Given the description of an element on the screen output the (x, y) to click on. 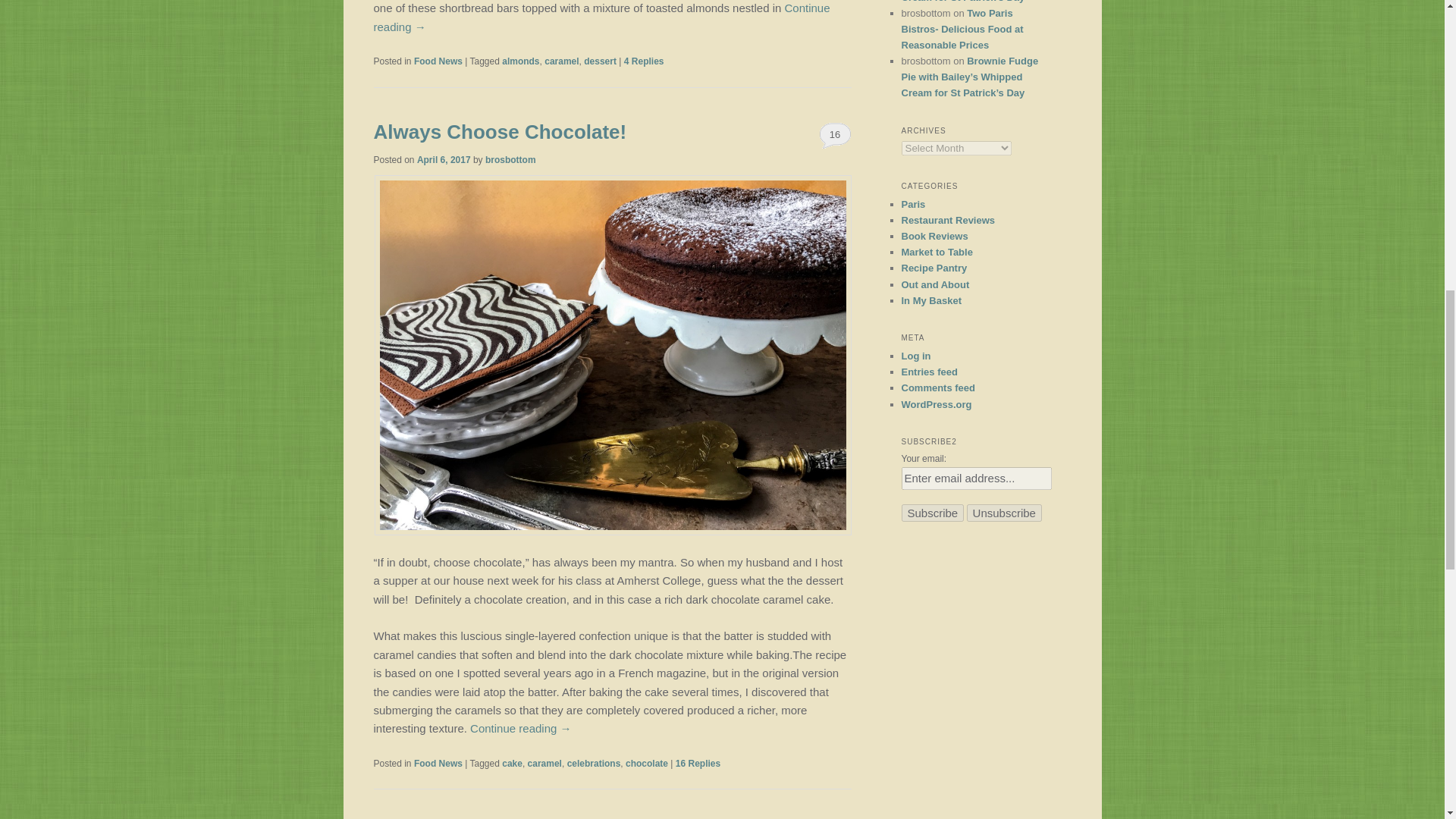
caramel (544, 763)
cake (512, 763)
dessert (599, 61)
caramel (561, 61)
April 6, 2017 (443, 159)
Food News (438, 61)
4 Replies (643, 61)
10:03 am (443, 159)
Subscribe (932, 512)
almonds (520, 61)
celebrations (594, 763)
View all posts by brosbottom (509, 159)
16 Replies (697, 763)
chocolate (647, 763)
Unsubscribe (1004, 512)
